Given the description of an element on the screen output the (x, y) to click on. 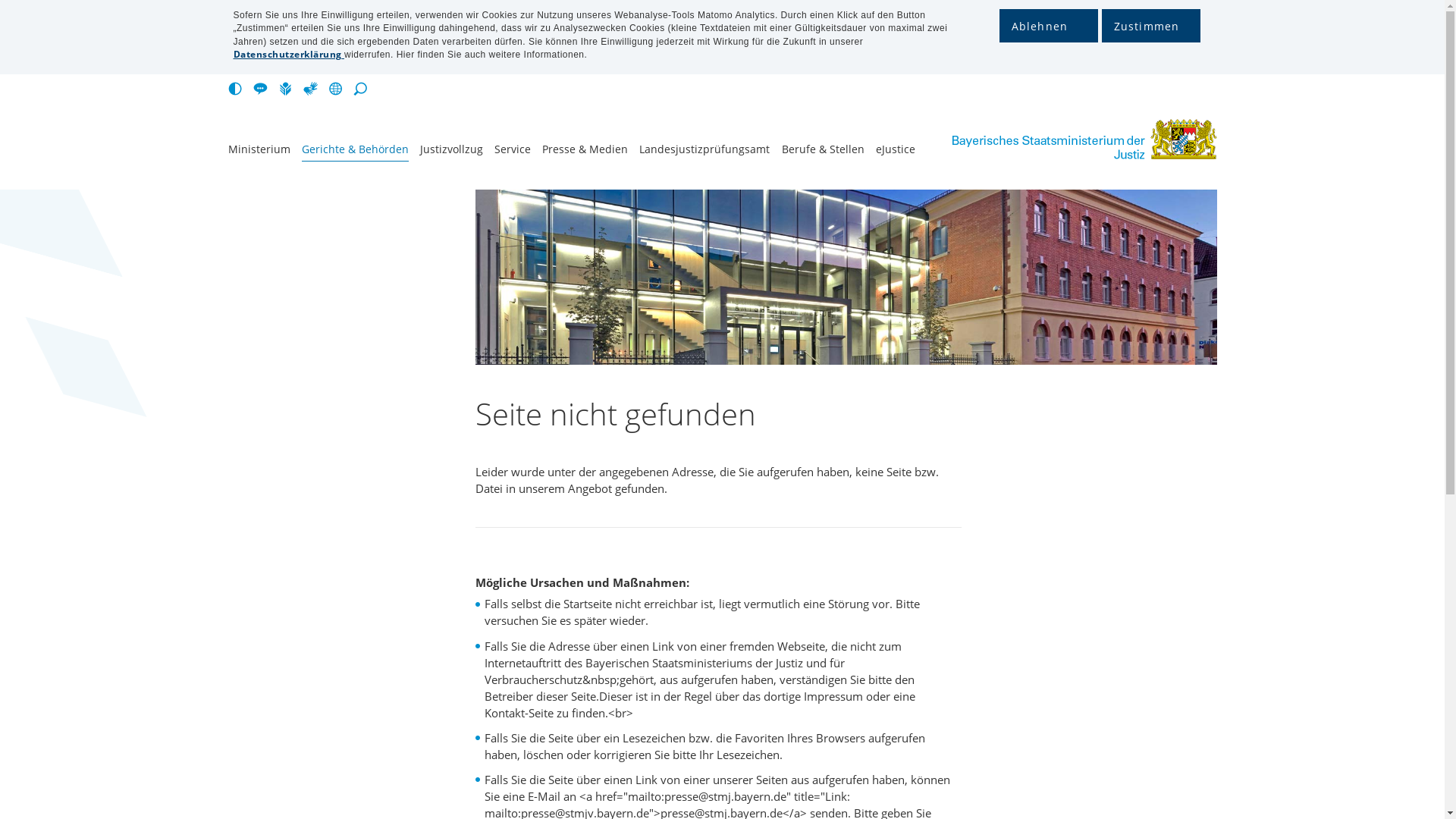
eJustice Element type: text (895, 152)
Zustimmen Element type: text (1150, 25)
Service Element type: text (512, 152)
Ministerium Element type: text (258, 152)
Seite vorlesen lassen [Alt-L] Element type: hover (264, 88)
Berufe & Stellen Element type: text (822, 152)
Ablehnen Element type: text (1048, 25)
Sprachen Element type: hover (338, 88)
Leichte Sprache Element type: hover (288, 88)
Presse & Medien Element type: text (584, 152)
Fehler 404 - Bayerisches Staatsministerium der Justiz Element type: hover (1062, 138)
